Given the description of an element on the screen output the (x, y) to click on. 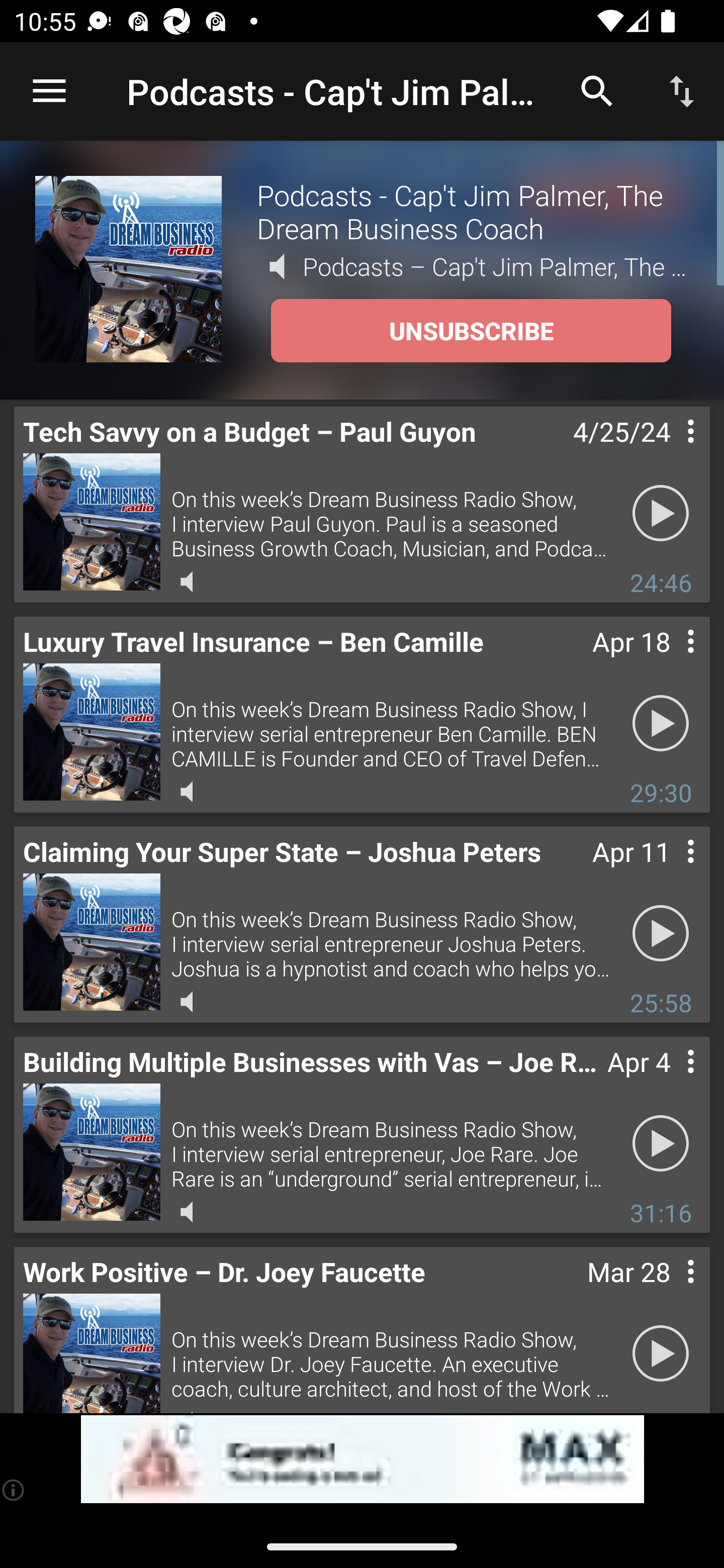
Open navigation sidebar (49, 91)
Search (597, 90)
Sort (681, 90)
UNSUBSCRIBE (470, 330)
Contextual menu (668, 451)
Play (660, 513)
Contextual menu (668, 661)
Play (660, 723)
Contextual menu (668, 870)
Play (660, 933)
Contextual menu (668, 1080)
Play (660, 1143)
Contextual menu (668, 1290)
Play (660, 1353)
app-monetization (362, 1459)
(i) (14, 1489)
